Given the description of an element on the screen output the (x, y) to click on. 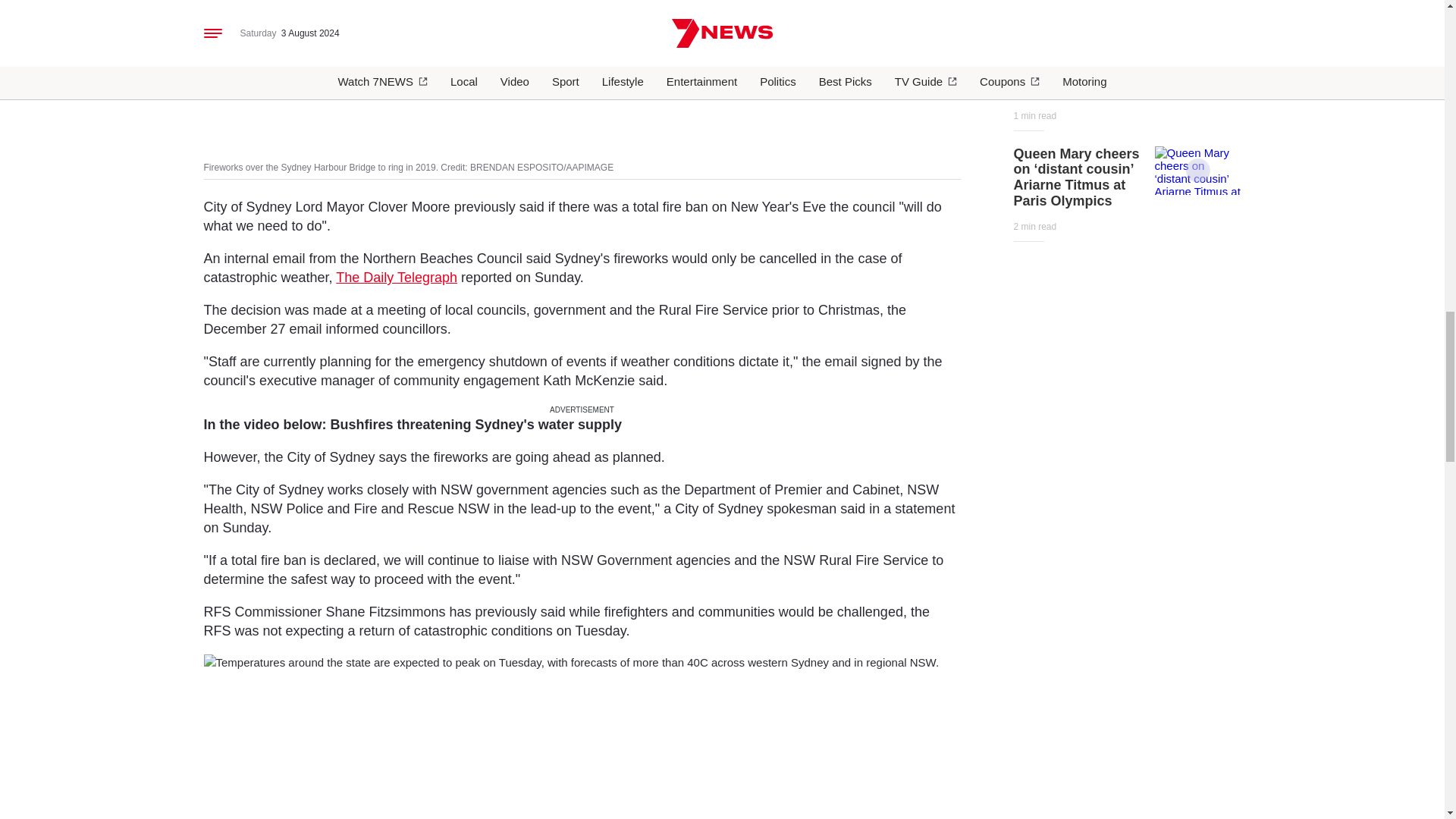
Video (1197, 170)
Video (1197, 43)
